Given the description of an element on the screen output the (x, y) to click on. 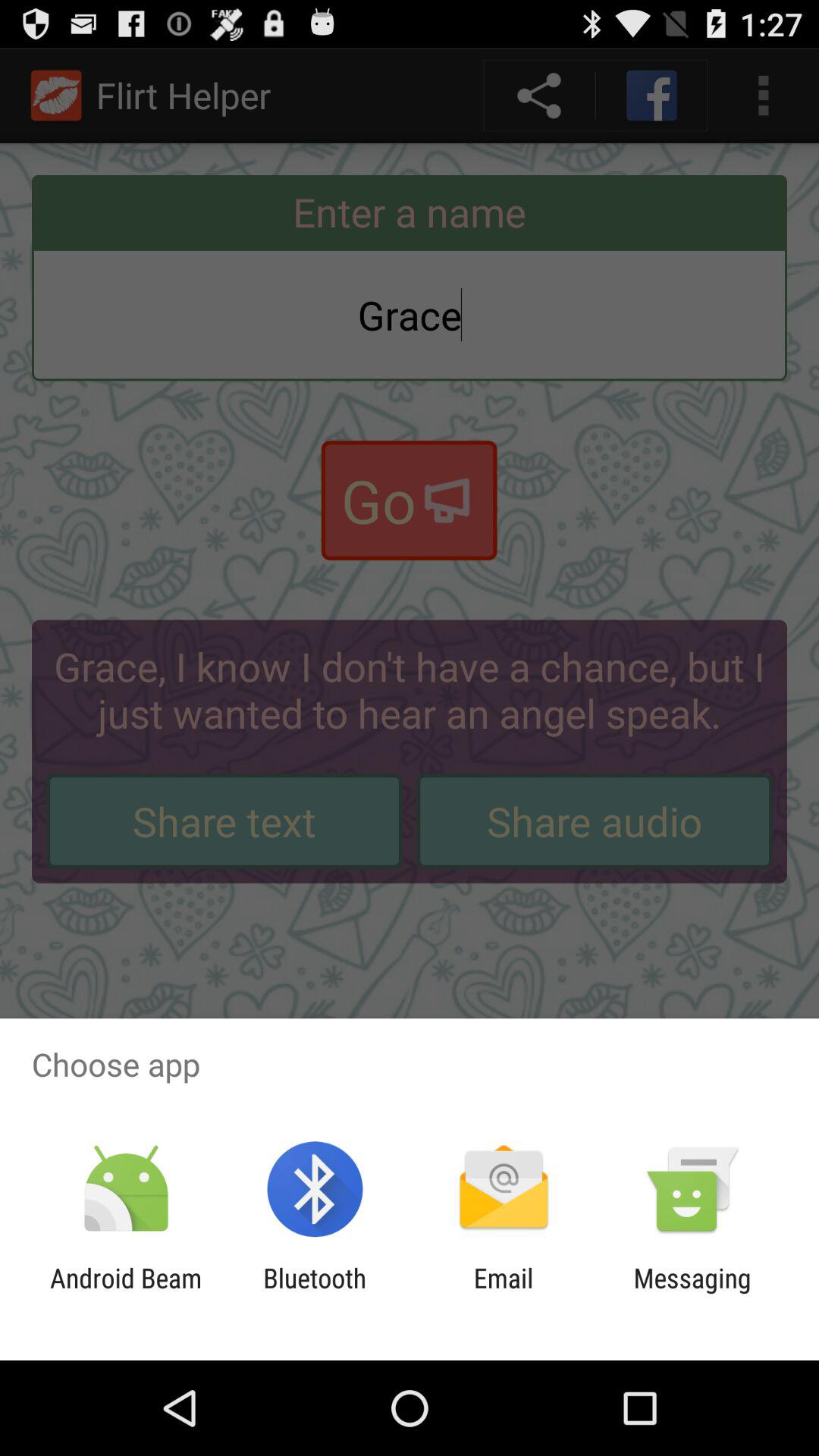
flip to the android beam icon (125, 1293)
